Given the description of an element on the screen output the (x, y) to click on. 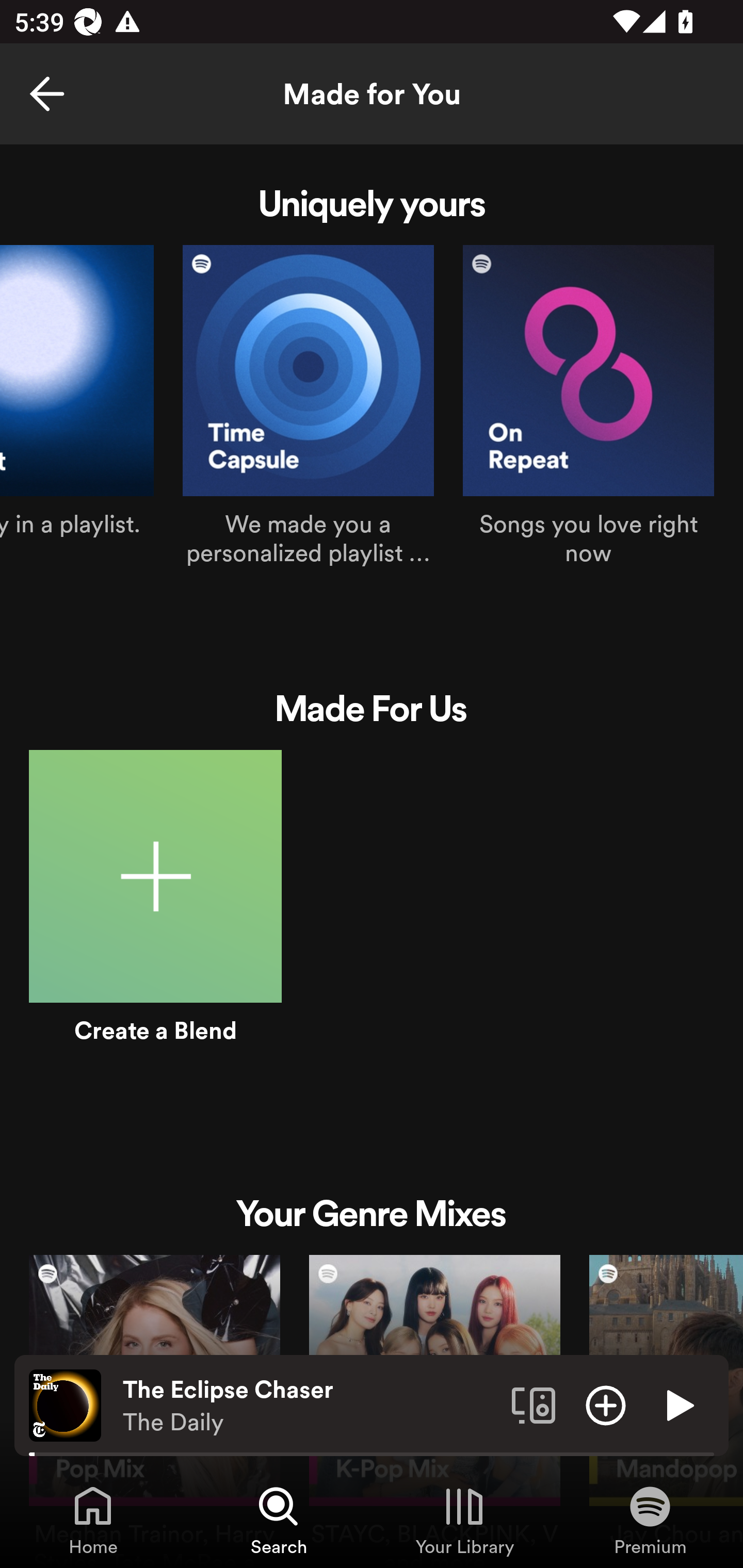
Back (46, 93)
Create a Blend
 Create a Blend (154, 918)
The Eclipse Chaser The Daily (309, 1405)
The cover art of the currently playing track (64, 1404)
Connect to a device. Opens the devices menu (533, 1404)
Add item (605, 1404)
Play (677, 1404)
Home, Tab 1 of 4 Home Home (92, 1519)
Search, Tab 2 of 4 Search Search (278, 1519)
Your Library, Tab 3 of 4 Your Library Your Library (464, 1519)
Premium, Tab 4 of 4 Premium Premium (650, 1519)
